Given the description of an element on the screen output the (x, y) to click on. 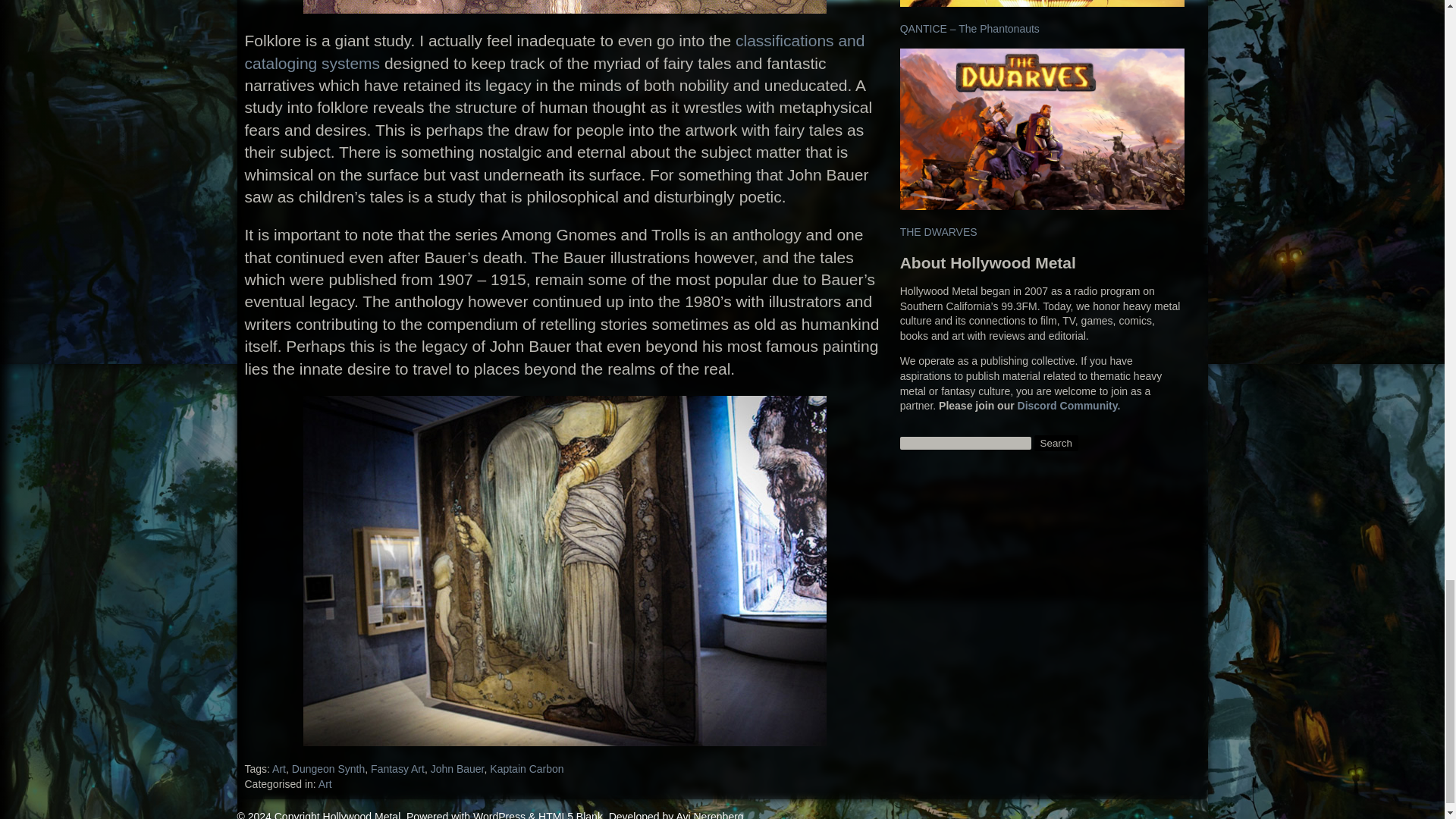
classifications and cataloging systems (554, 51)
Art (324, 784)
Kaptain Carbon (526, 768)
Dungeon Synth (328, 768)
John Bauer (457, 768)
Art (278, 768)
Fantasy Art (398, 768)
